Given the description of an element on the screen output the (x, y) to click on. 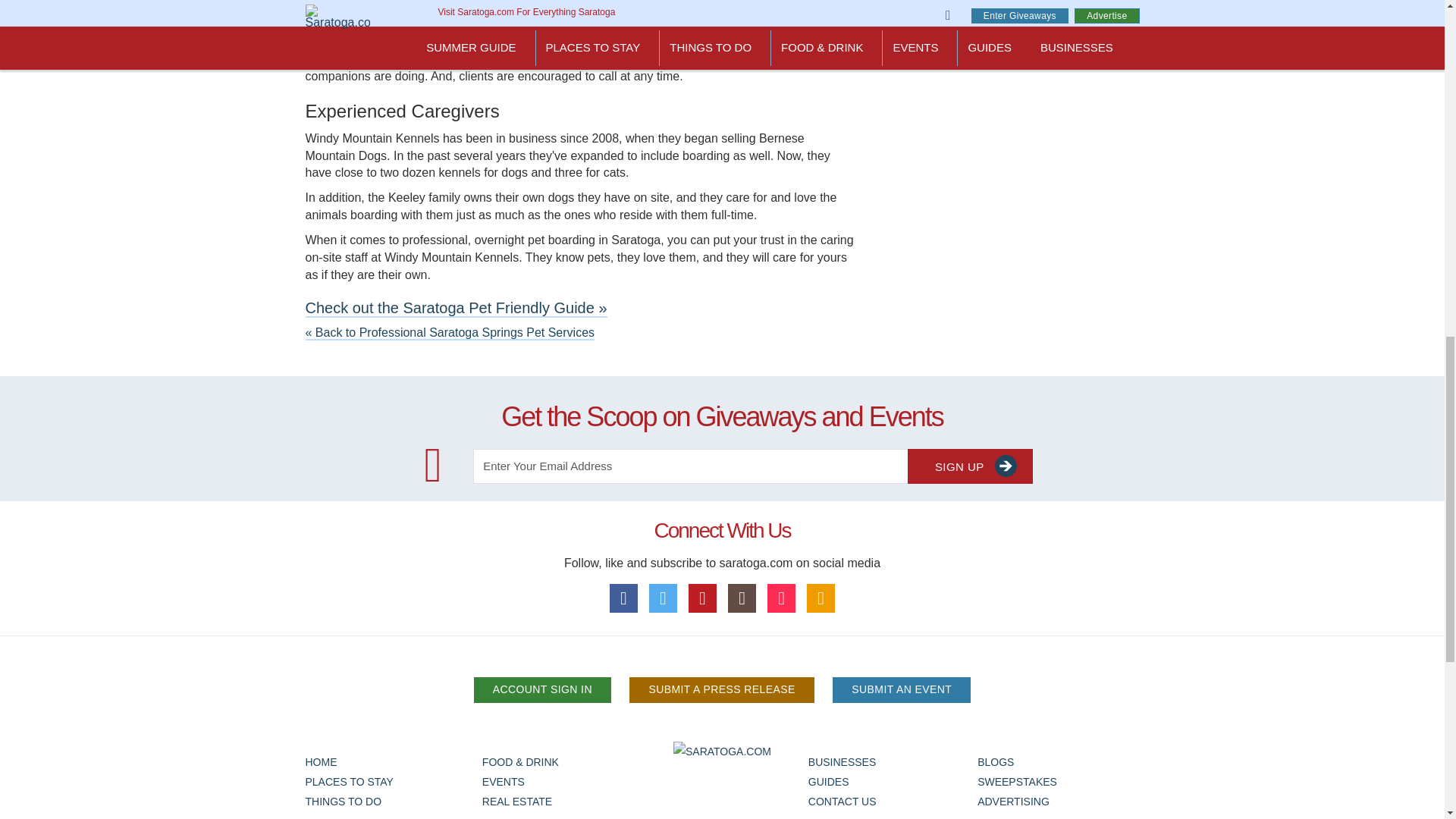
X (663, 598)
Pinterest (702, 598)
Facebook (624, 598)
Instagram (742, 598)
TikTok (781, 598)
My Planner (820, 598)
